Given the description of an element on the screen output the (x, y) to click on. 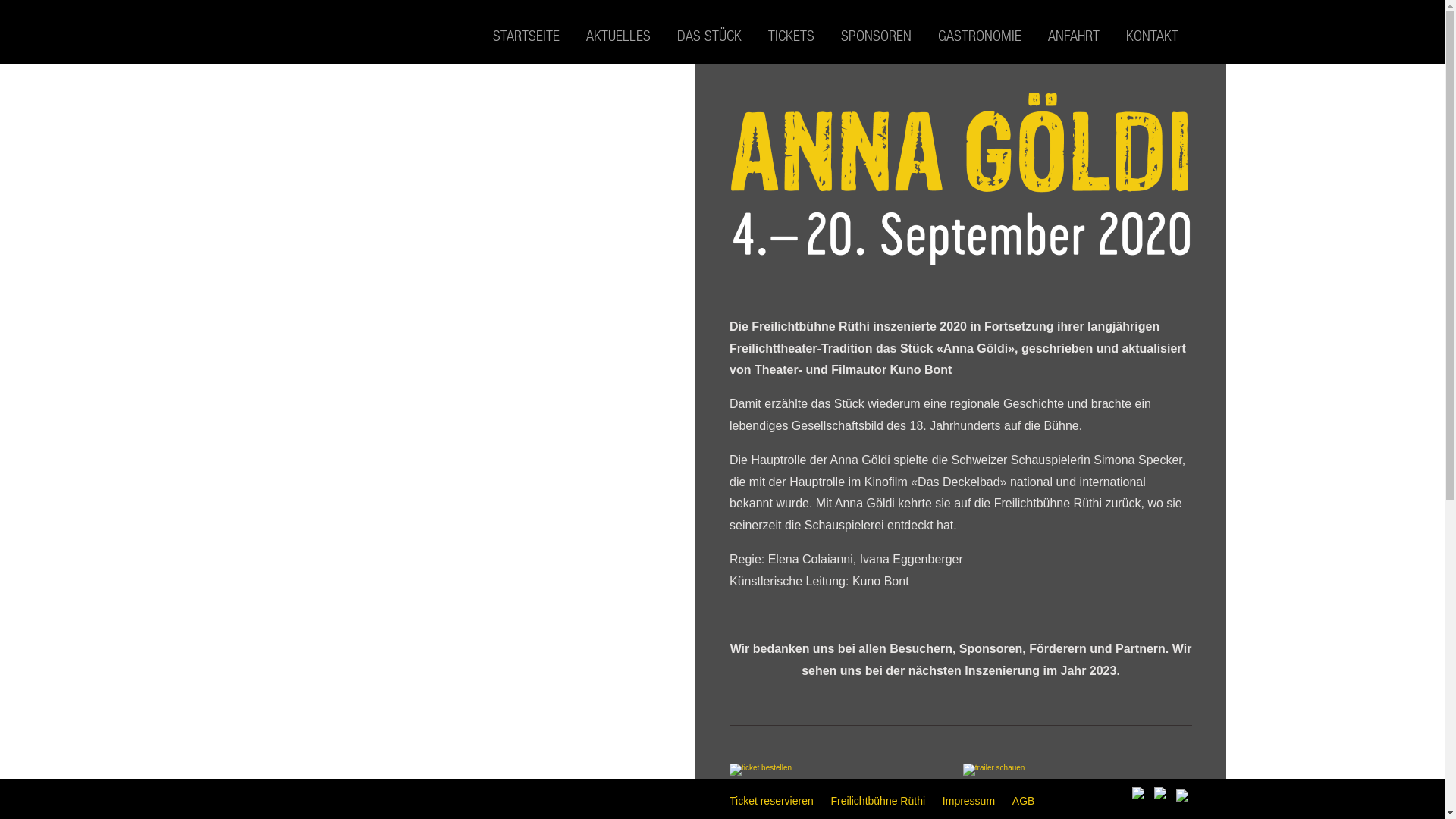
GASTRONOMIE Element type: text (979, 34)
TICKETS Element type: text (791, 34)
AGB Element type: text (1023, 800)
SPONSOREN Element type: text (875, 34)
ANFAHRT Element type: text (1073, 34)
Ticket reservieren Element type: text (771, 800)
Impressum Element type: text (968, 800)
KONTAKT Element type: text (1152, 34)
STARTSEITE Element type: text (525, 34)
AKTUELLES Element type: text (618, 34)
